Given the description of an element on the screen output the (x, y) to click on. 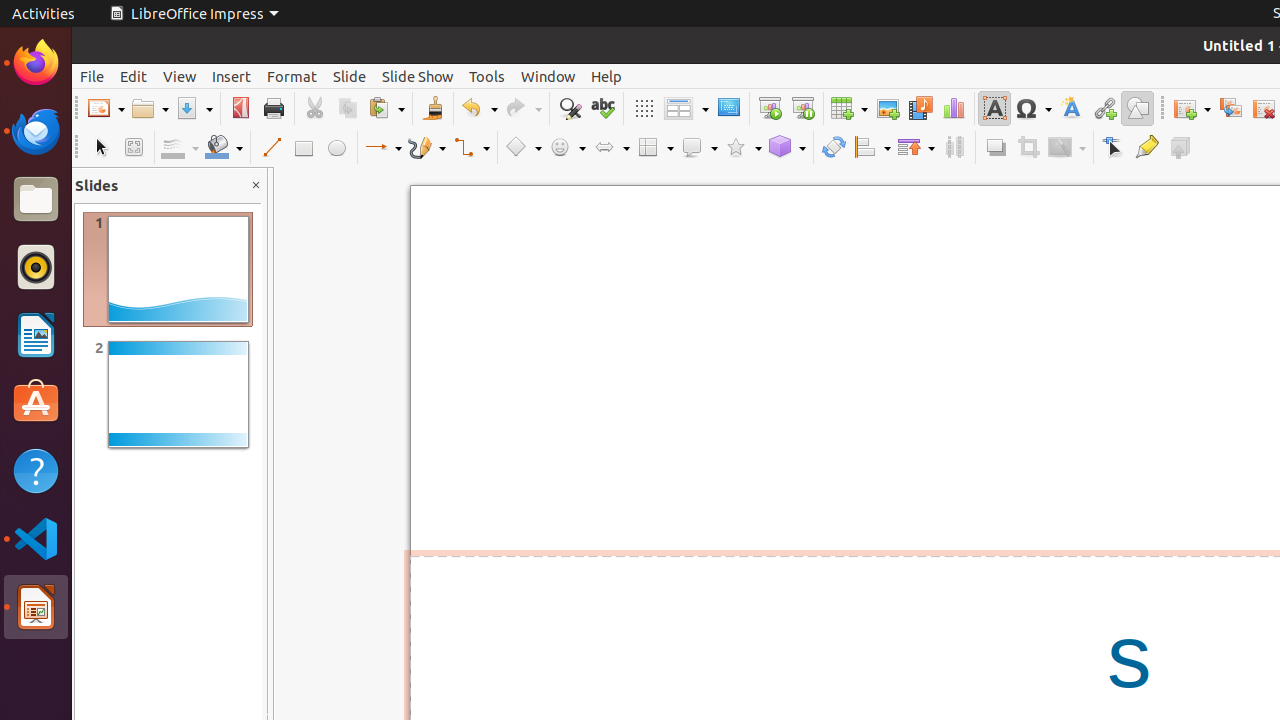
Save Element type: push-button (194, 108)
Slide Element type: menu (349, 76)
Ubuntu Software Element type: push-button (36, 402)
Callout Shapes Element type: push-button (699, 147)
Flowchart Shapes Element type: push-button (655, 147)
